Given the description of an element on the screen output the (x, y) to click on. 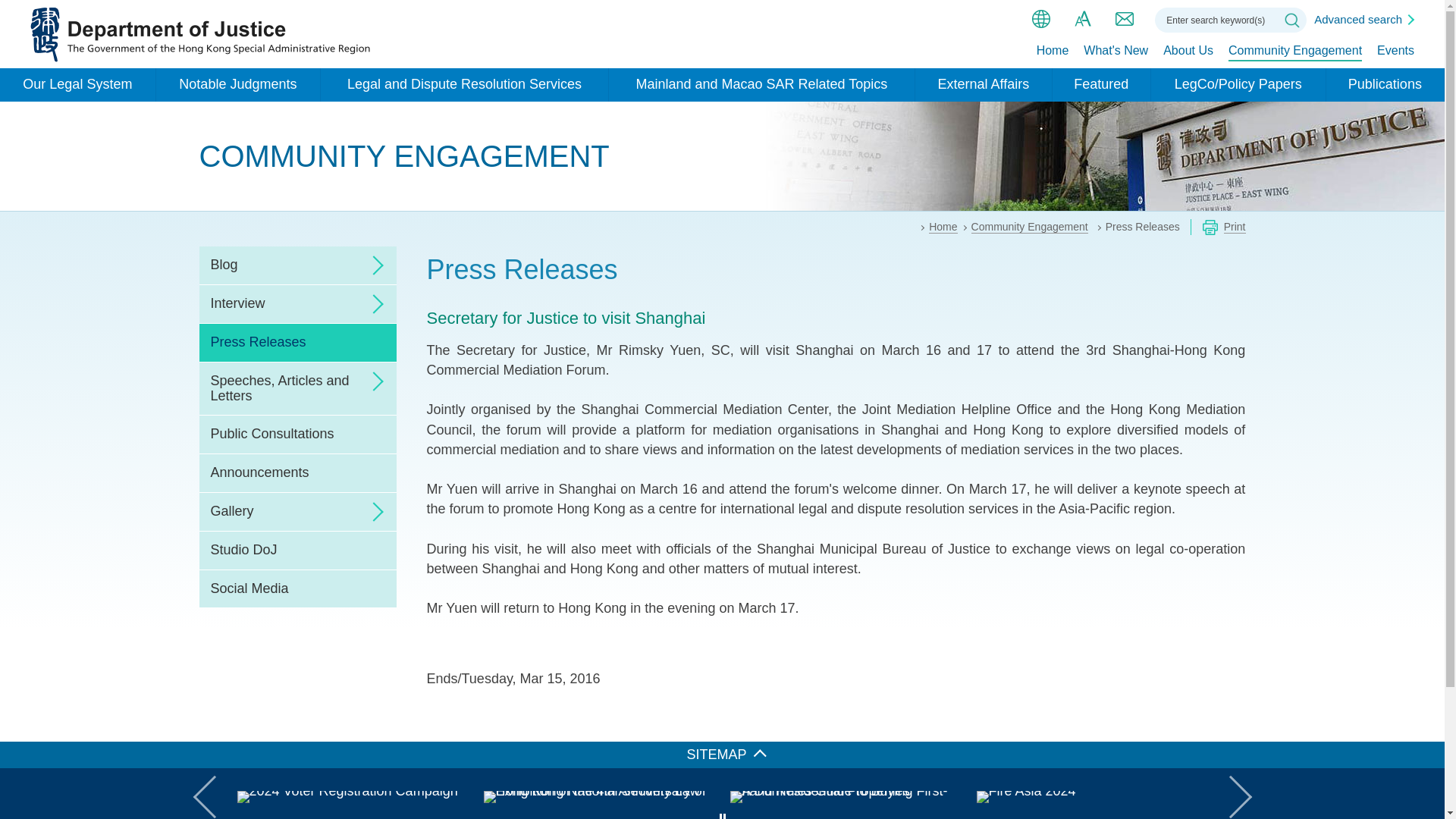
Contact us (1124, 18)
Press Releases (297, 342)
Blog (297, 265)
language (1040, 18)
Font size (1082, 18)
Interview (297, 303)
Speeches, Articles and Letters (297, 388)
